Given the description of an element on the screen output the (x, y) to click on. 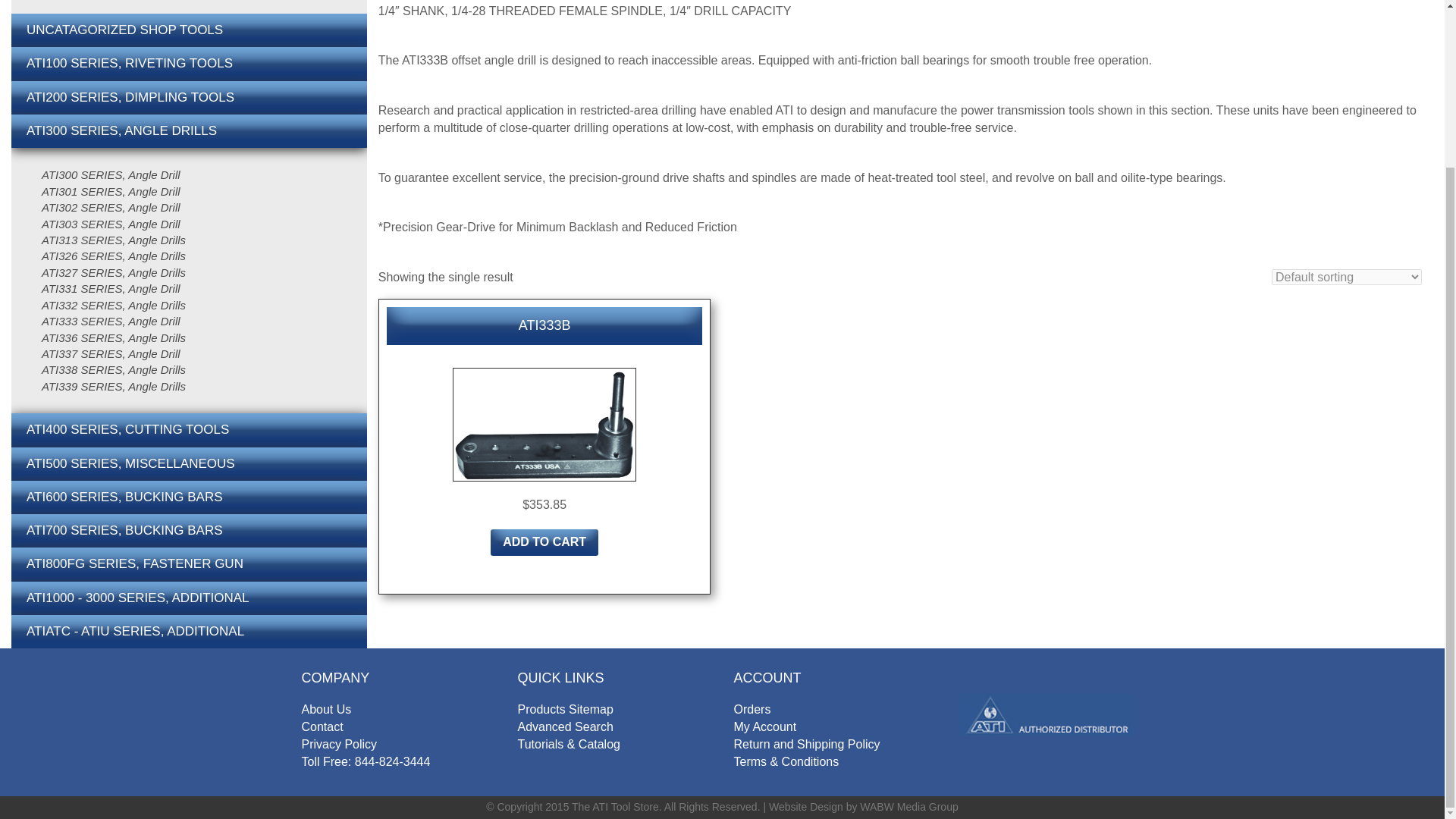
ATI326 SERIES, Angle Drills (114, 255)
ADD TO CART (544, 542)
ATI302 SERIES, Angle Drill (114, 207)
ATI500 SERIES, MISCELLANEOUS (188, 462)
ATI327 SERIES, Angle Drills (114, 272)
UNCATAGORIZED SHOP TOOLS (188, 29)
ATI303 SERIES, Angle Drill (114, 223)
ATI339 SERIES, Angle Drills (114, 385)
ATI333 SERIES, Angle Drill (114, 320)
ATI700 SERIES, BUCKING BARS (188, 530)
ATI332 SERIES, Angle Drills (114, 304)
ATI331 SERIES, Angle Drill (114, 288)
ATIATC - ATIU SERIES, ADDITIONAL (188, 631)
ATI1000 - 3000 SERIES, ADDITIONAL (188, 598)
ATI313 SERIES, Angle Drills (114, 239)
